Given the description of an element on the screen output the (x, y) to click on. 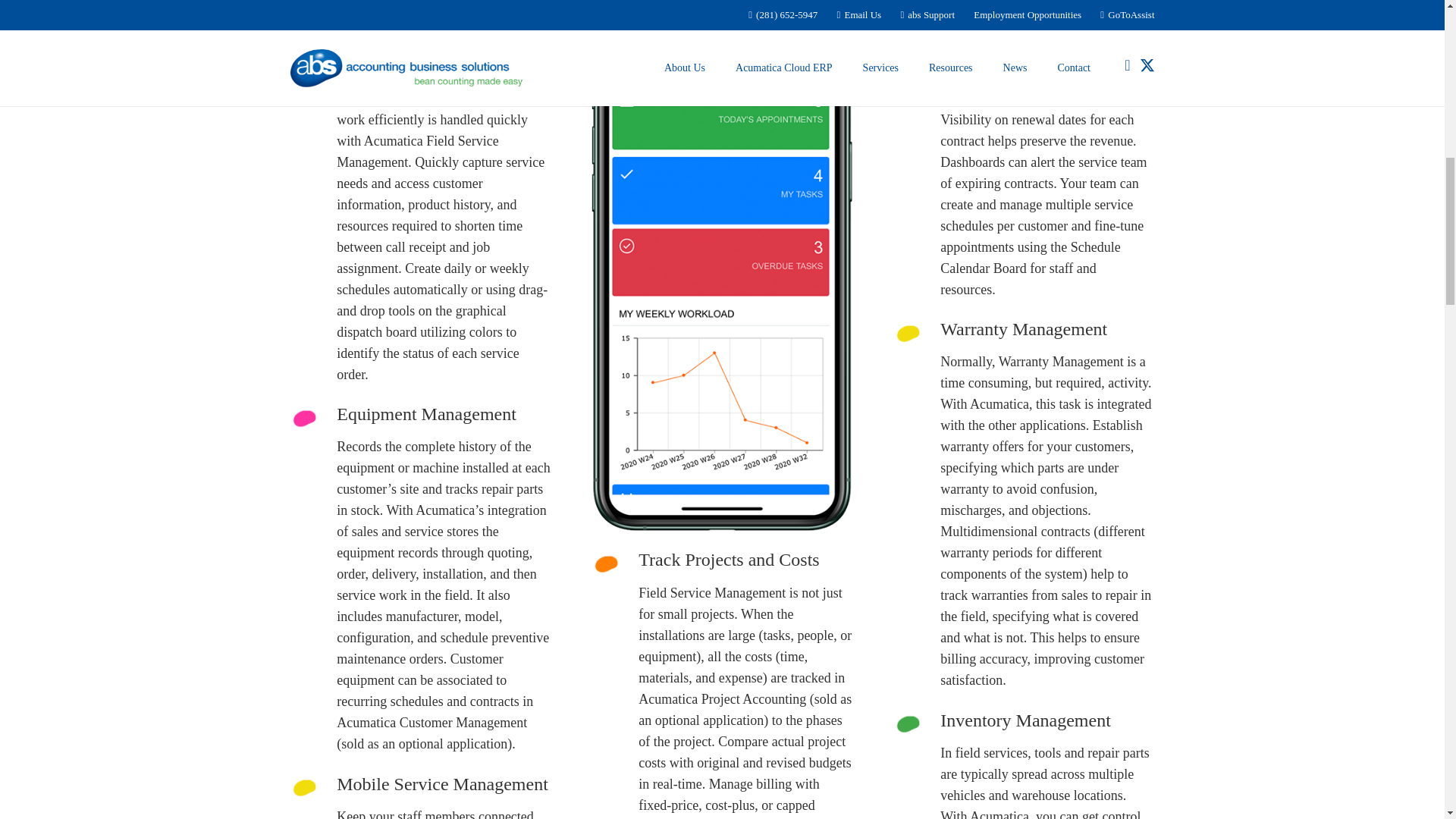
Inventory Management (1047, 725)
